Given the description of an element on the screen output the (x, y) to click on. 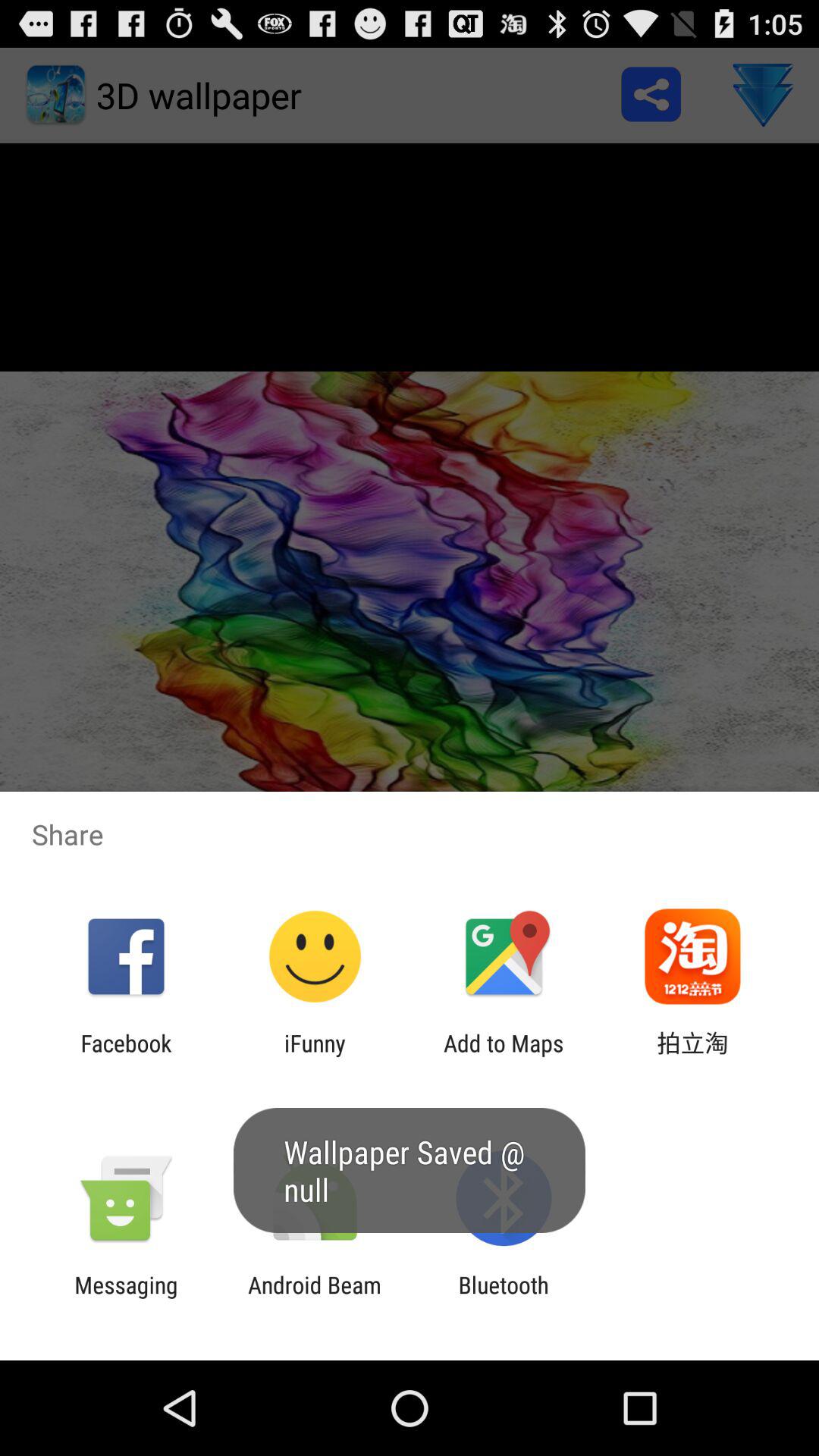
choose the facebook icon (125, 1056)
